Given the description of an element on the screen output the (x, y) to click on. 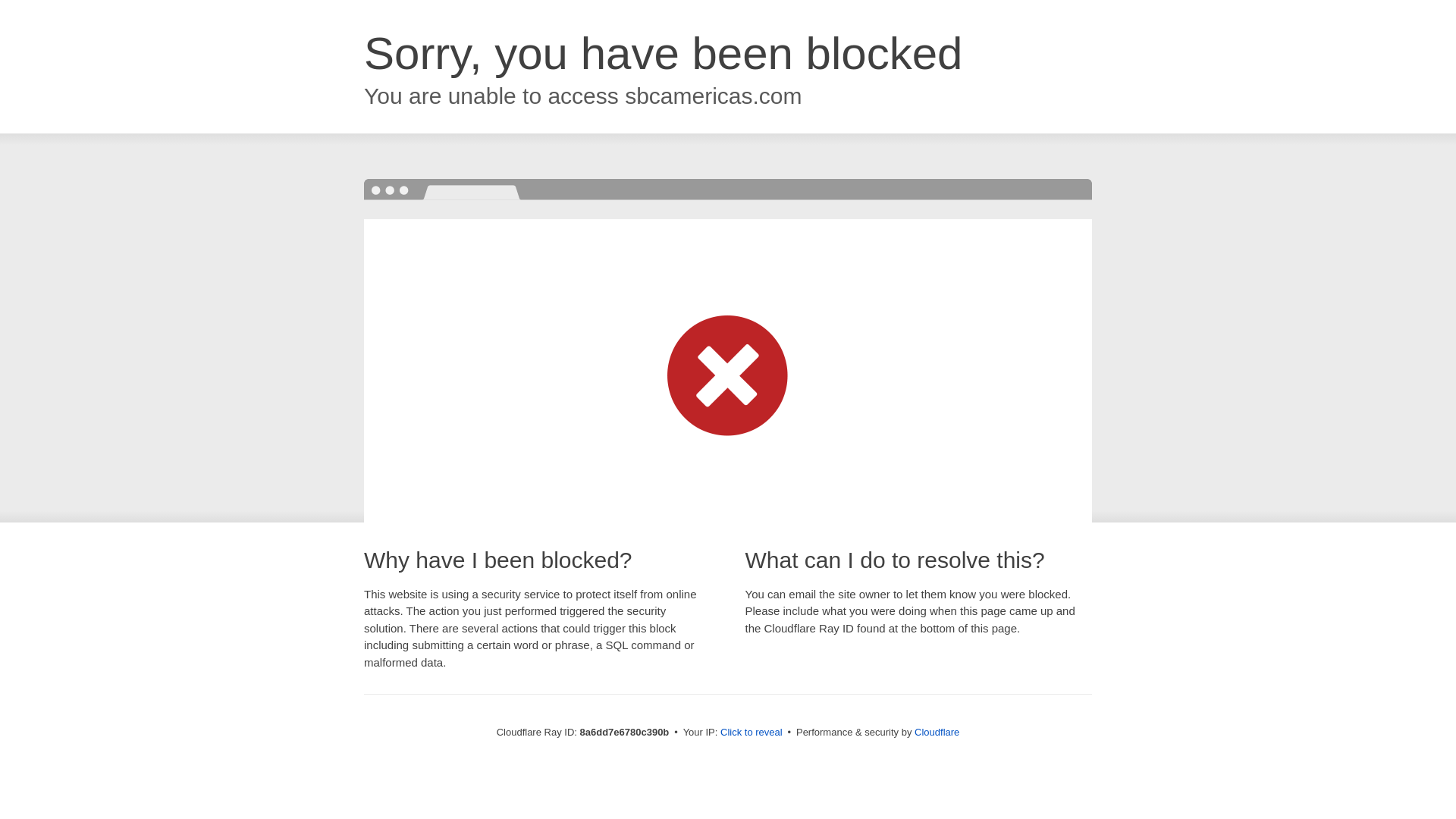
Cloudflare (936, 731)
Click to reveal (751, 732)
